Given the description of an element on the screen output the (x, y) to click on. 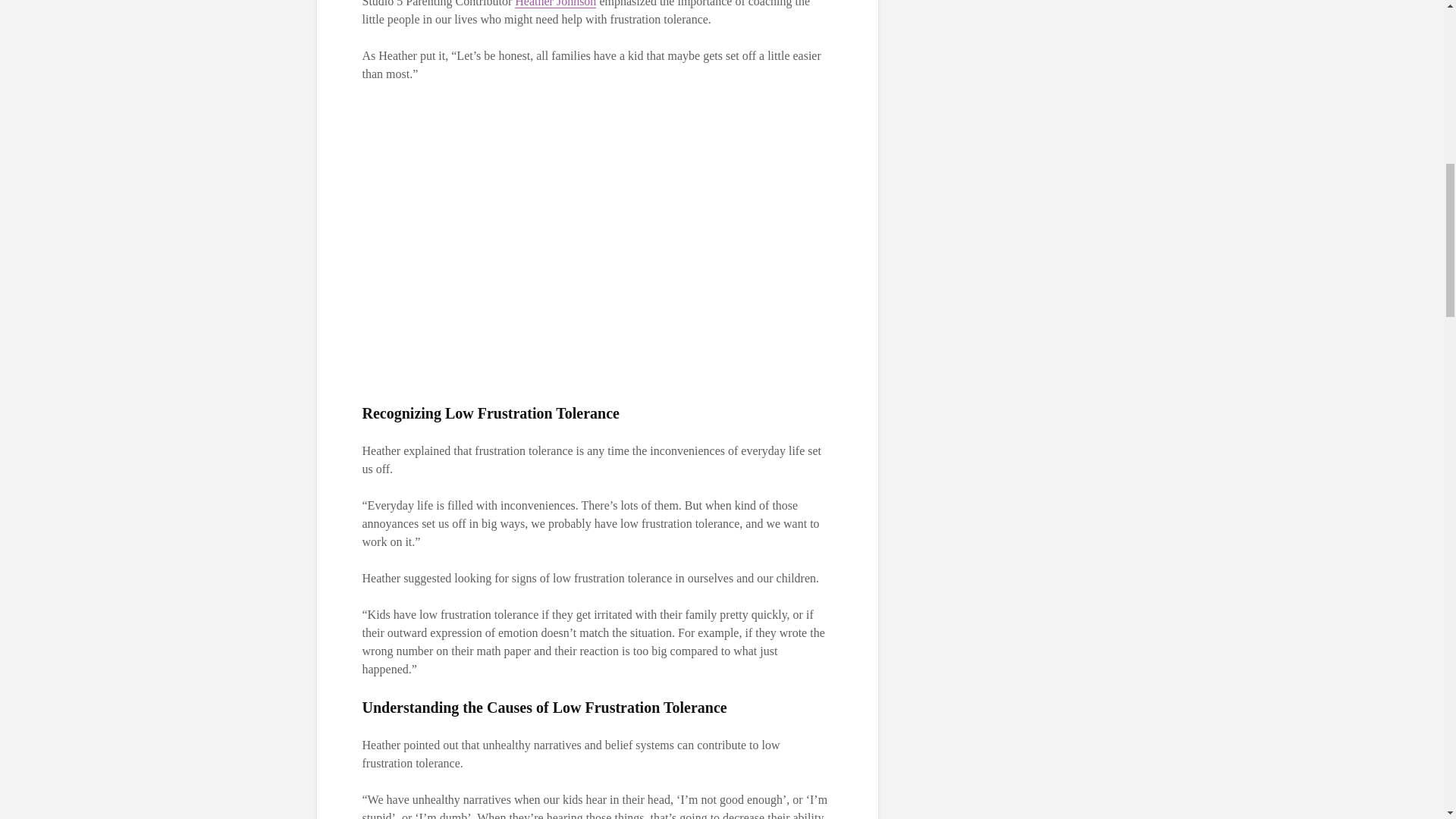
Heather Johnson (555, 4)
